Given the description of an element on the screen output the (x, y) to click on. 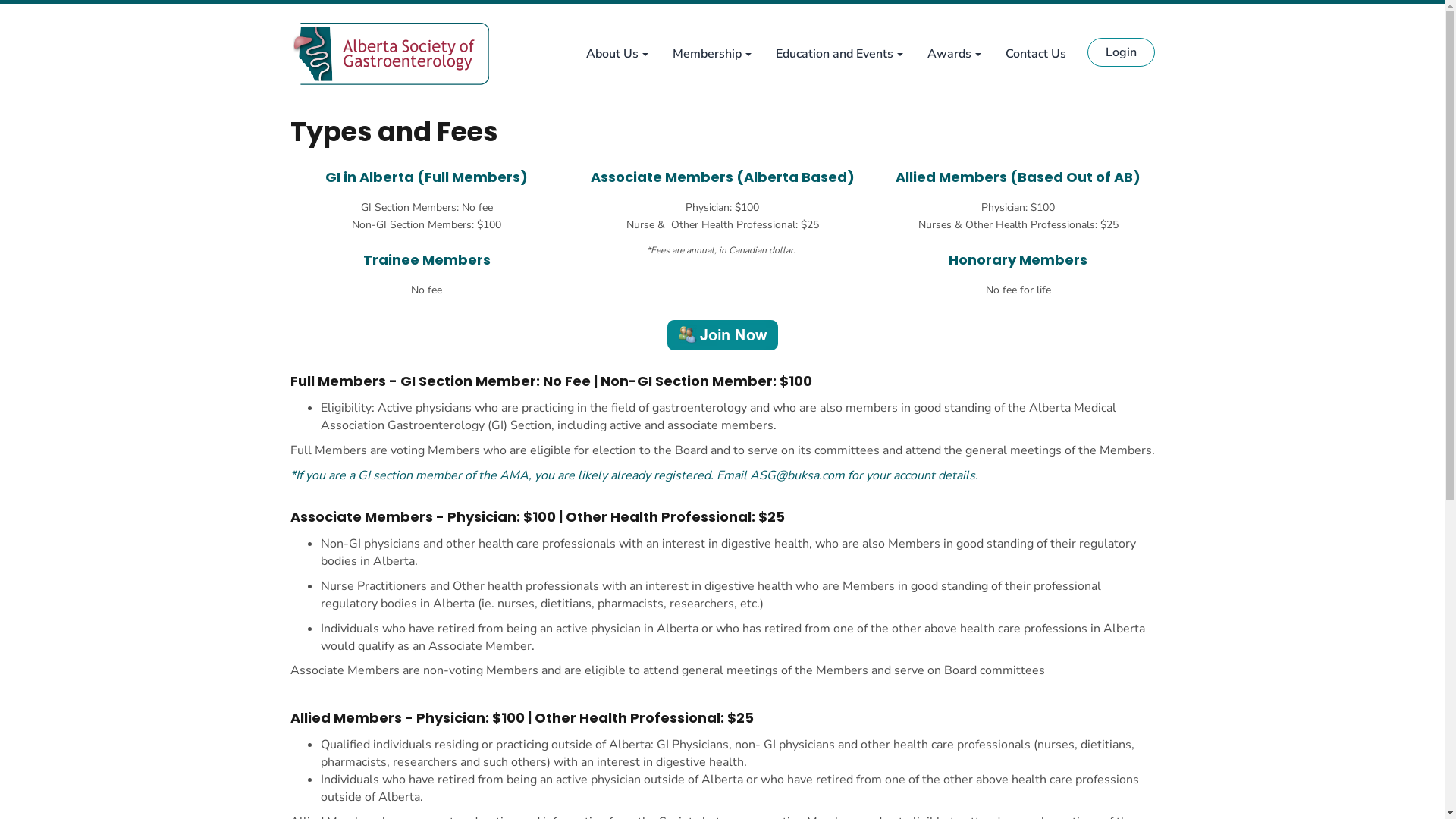
Awards Element type: text (953, 53)
Membership Element type: text (710, 53)
Education and Events Element type: text (838, 53)
Login Element type: text (1120, 51)
About Us Element type: text (616, 53)
Contact Us Element type: text (1035, 53)
